Given the description of an element on the screen output the (x, y) to click on. 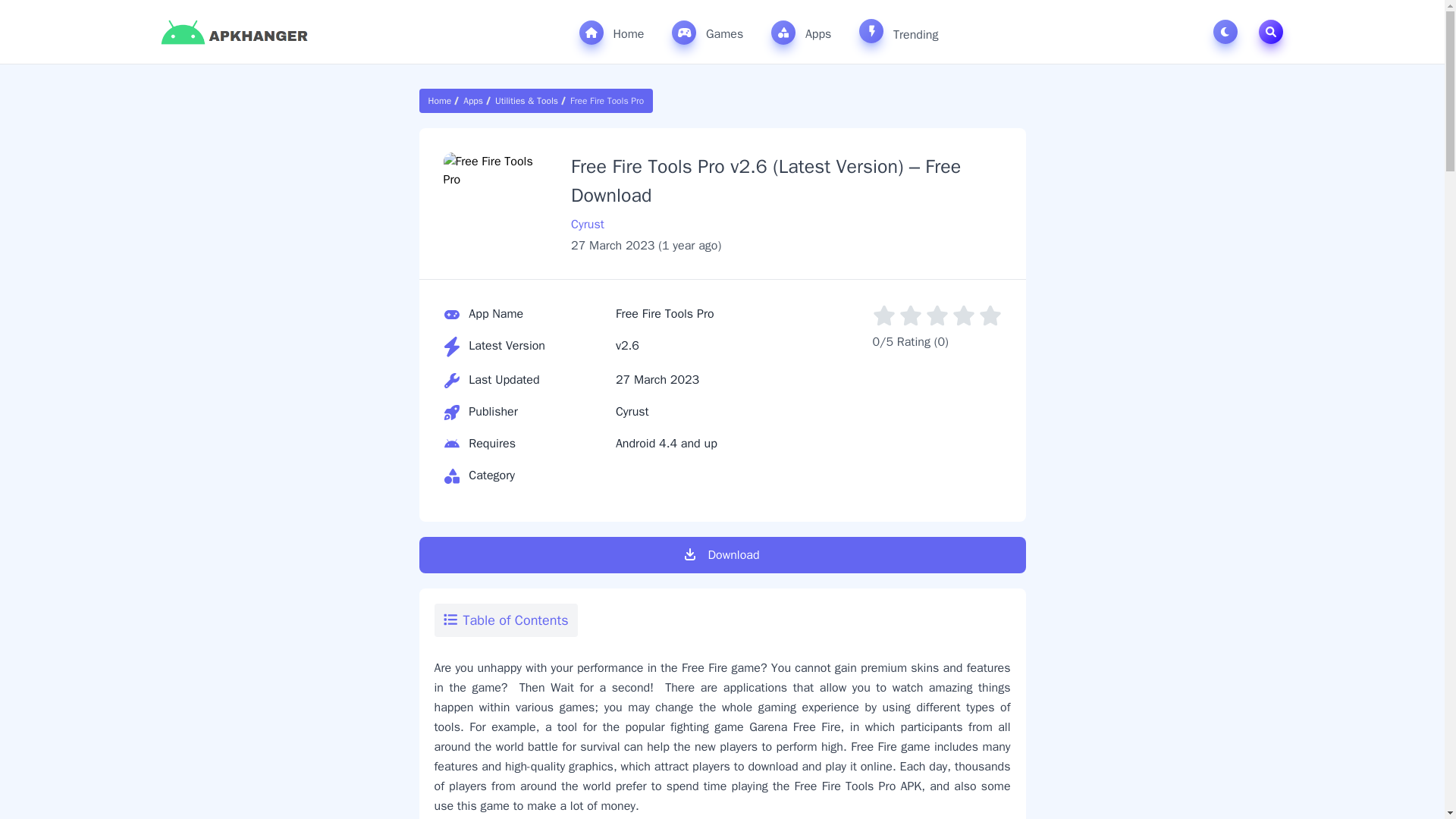
Games (706, 32)
Home (442, 101)
Home (612, 32)
Apps (473, 101)
Apps (801, 32)
Trending (898, 31)
Table of Contents (504, 620)
Download (722, 555)
Toggle Dark Mode (1227, 31)
Toggle Search (1270, 31)
